Given the description of an element on the screen output the (x, y) to click on. 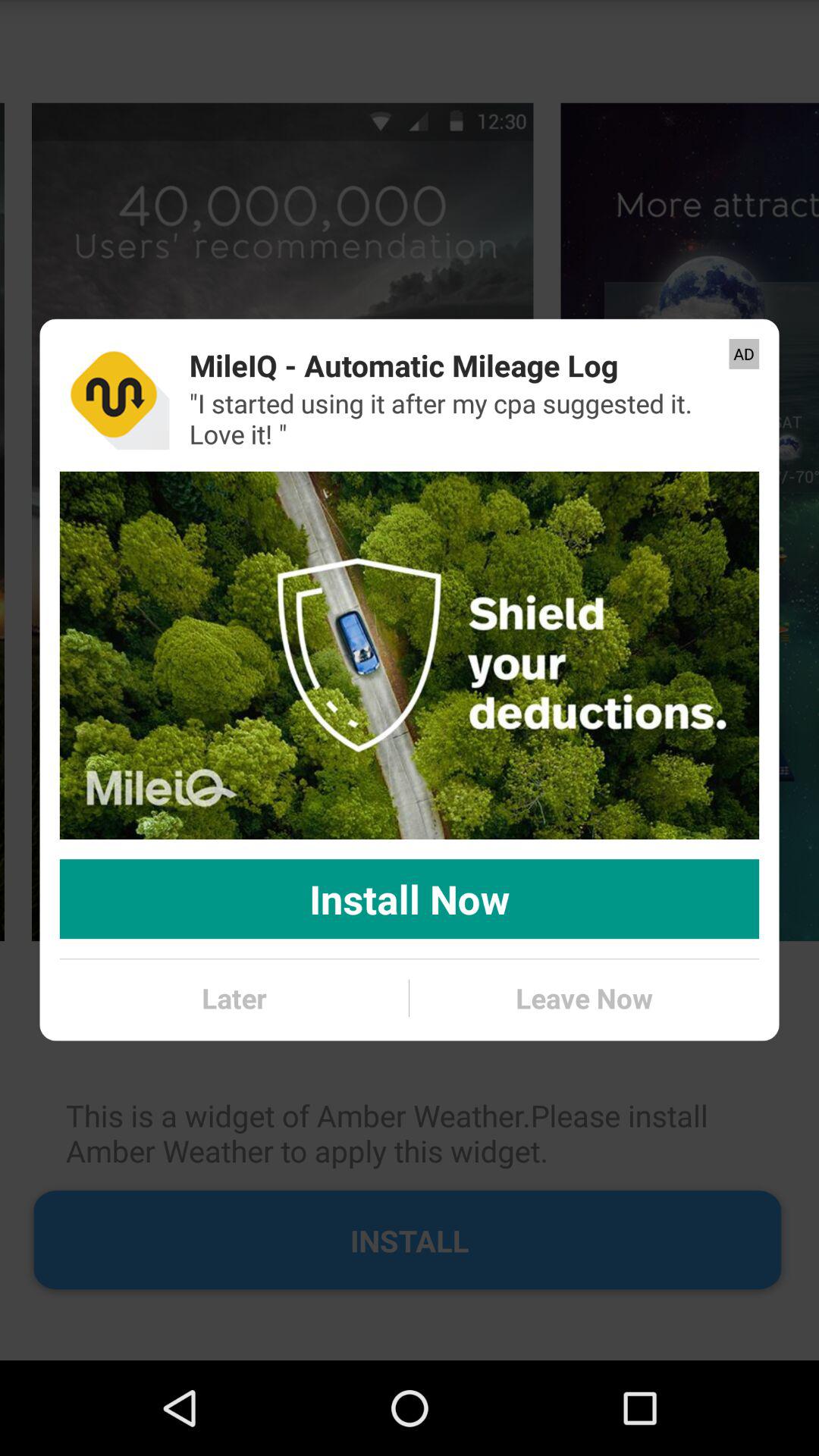
scroll until mileiq automatic mileage app (403, 365)
